Given the description of an element on the screen output the (x, y) to click on. 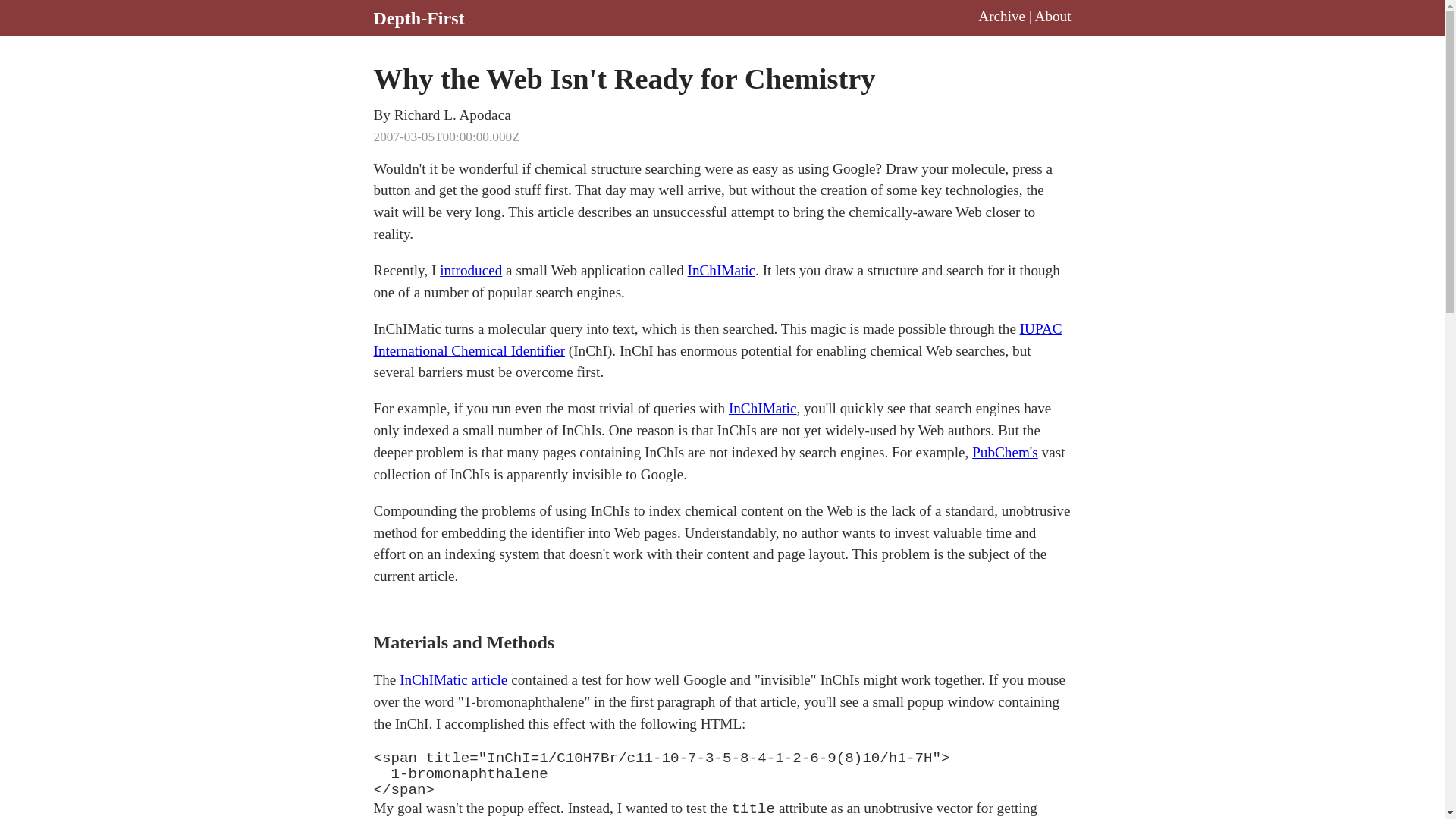
introduced (470, 270)
Archive (1001, 16)
About (1053, 16)
PubChem's (1005, 452)
InChIMatic (721, 270)
Depth-First (418, 17)
InChIMatic article (452, 679)
IUPAC International Chemical Identifier (716, 339)
InChIMatic (762, 408)
